Given the description of an element on the screen output the (x, y) to click on. 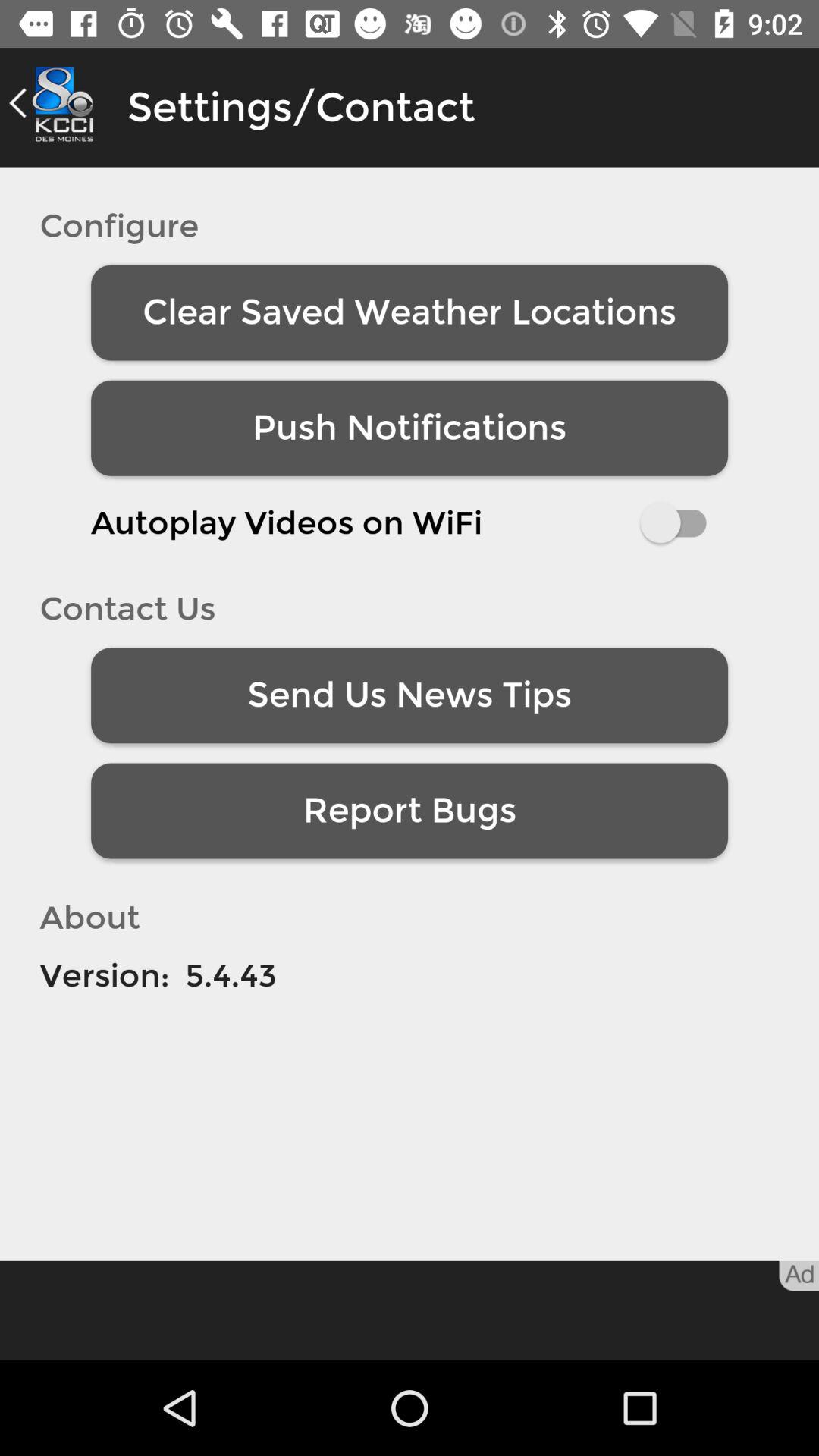
swipe to the 5.4.43 icon (230, 975)
